Given the description of an element on the screen output the (x, y) to click on. 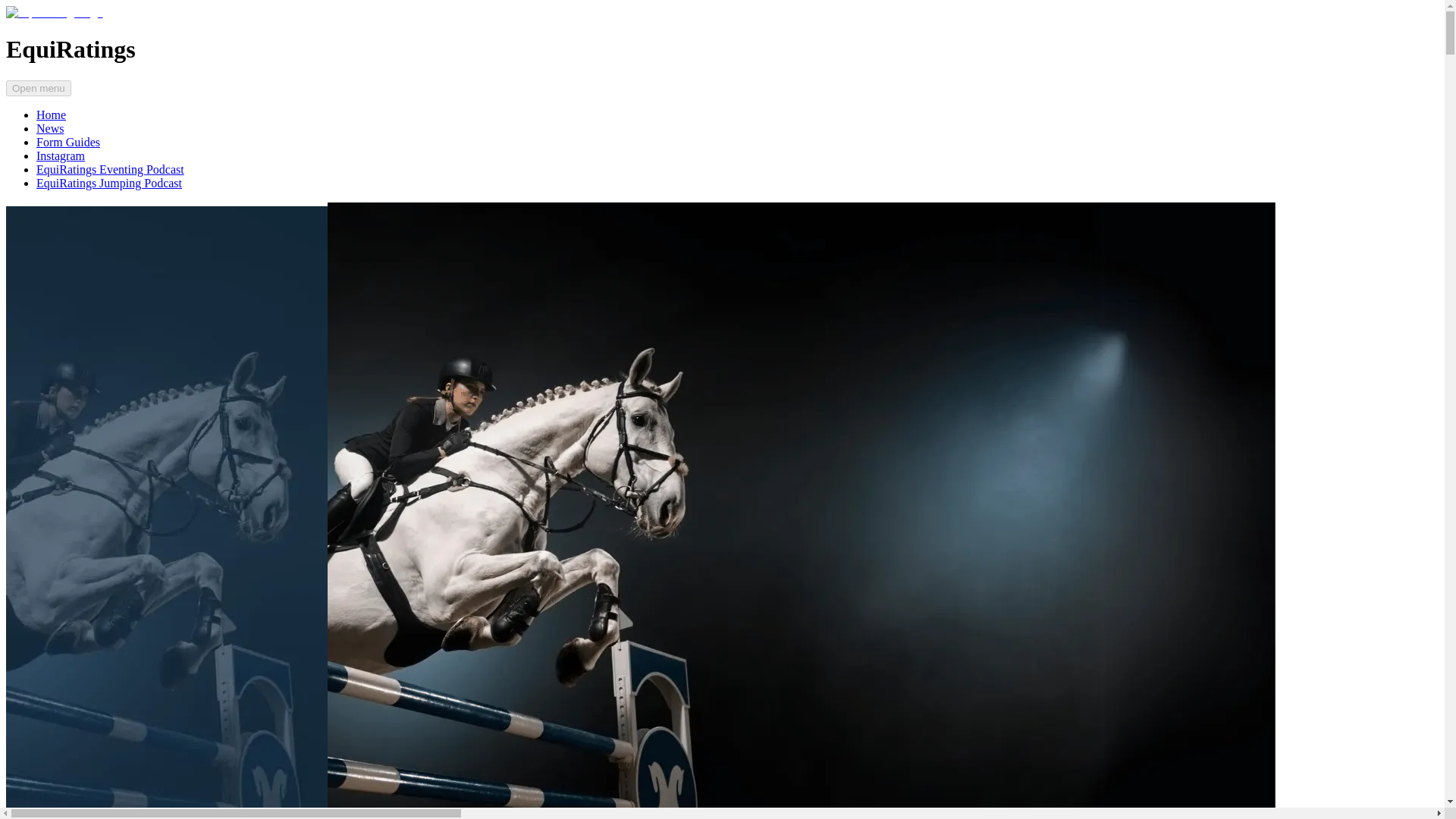
EquiRatings Jumping Podcast (109, 182)
Instagram (60, 155)
Form Guides (68, 141)
News (50, 128)
Open menu (38, 88)
EquiRatings Eventing Podcast (110, 169)
Home (50, 114)
